Given the description of an element on the screen output the (x, y) to click on. 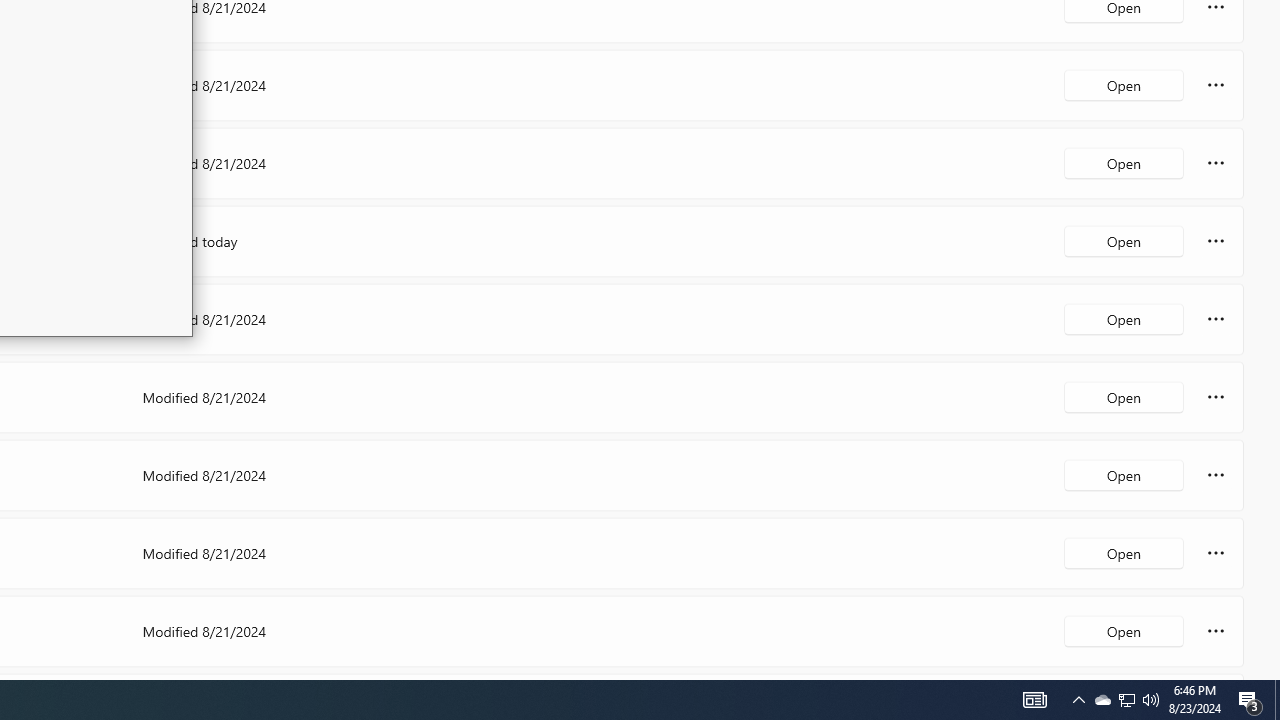
Notification Chevron (1078, 699)
Q2790: 100% (1151, 699)
Open (1123, 630)
User Promoted Notification Area (1126, 699)
Action Center, 3 new notifications (1126, 699)
Show desktop (1250, 699)
AutomationID: 4105 (1277, 699)
More options (1102, 699)
Vertical Small Increase (1034, 699)
